Given the description of an element on the screen output the (x, y) to click on. 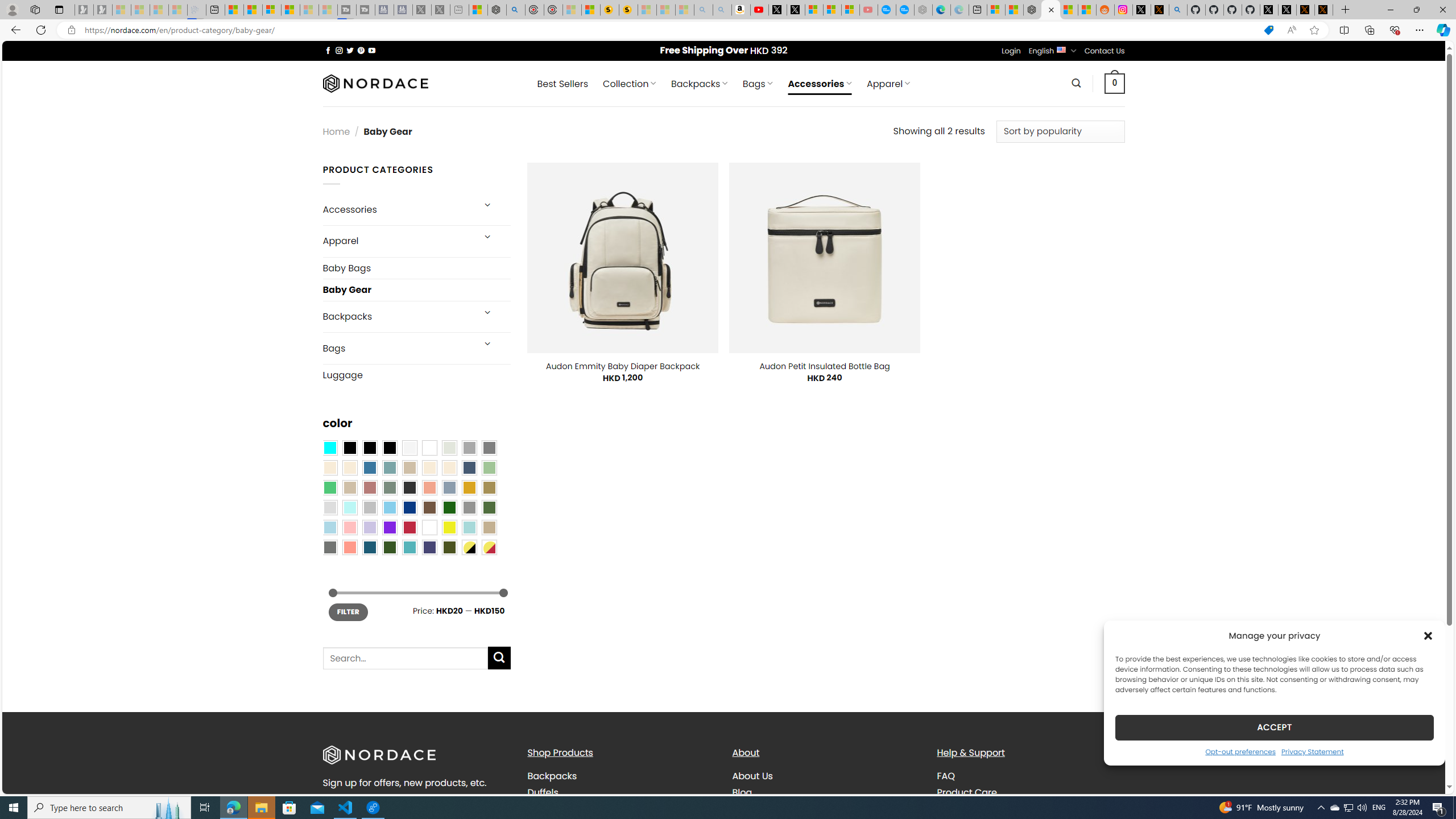
Duffels (620, 792)
Profile / X (1268, 9)
Silver (369, 507)
Light Gray (329, 507)
Microsoft account | Microsoft Account Privacy Settings (996, 9)
Teal (408, 547)
Shop order (1060, 131)
Backpacks (551, 775)
GitHub (@github) / X (1287, 9)
Apparel (397, 241)
Gloom - YouTube - Sleeping (868, 9)
